Given the description of an element on the screen output the (x, y) to click on. 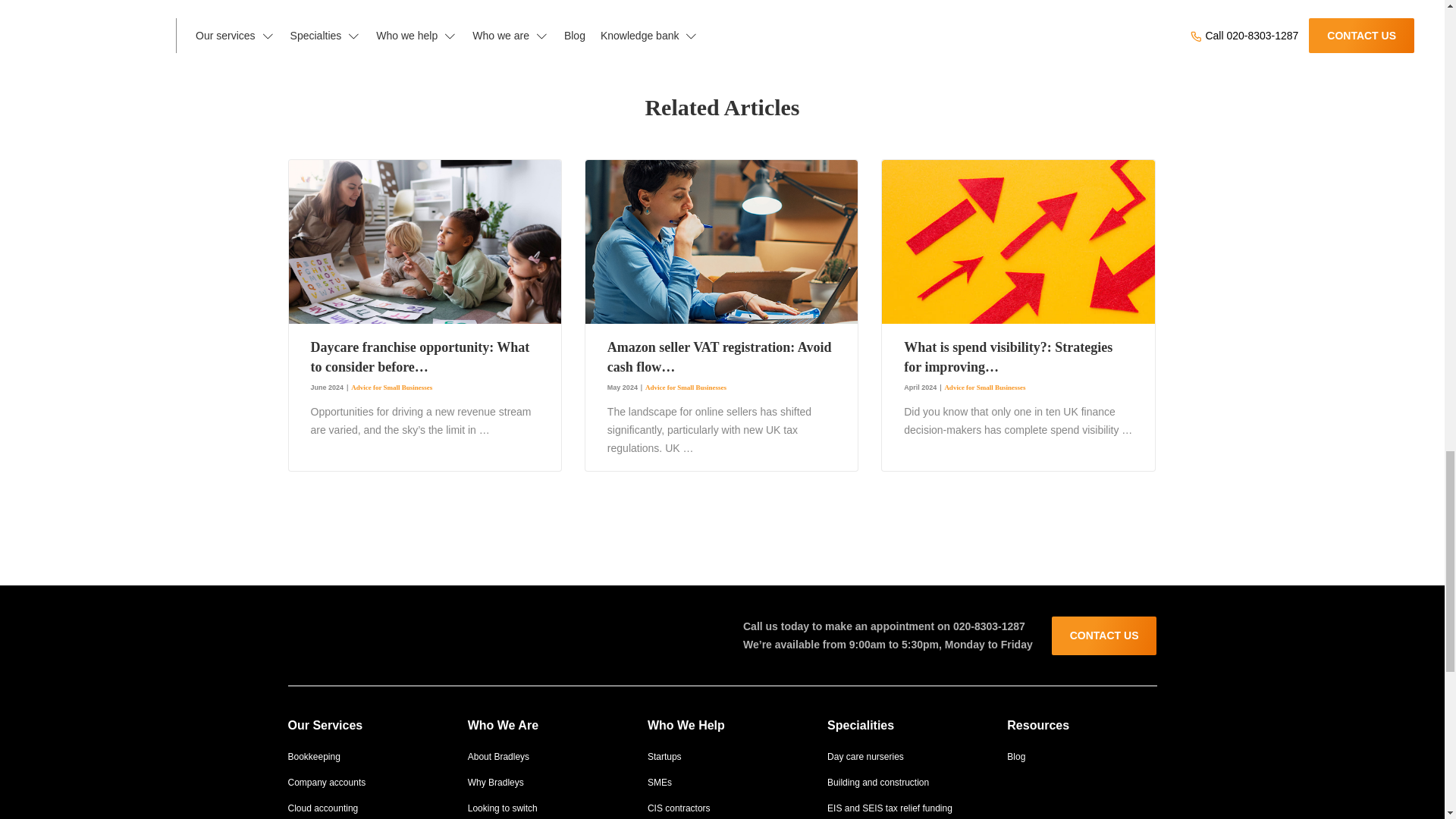
Bradleys Accountants (352, 632)
